Given the description of an element on the screen output the (x, y) to click on. 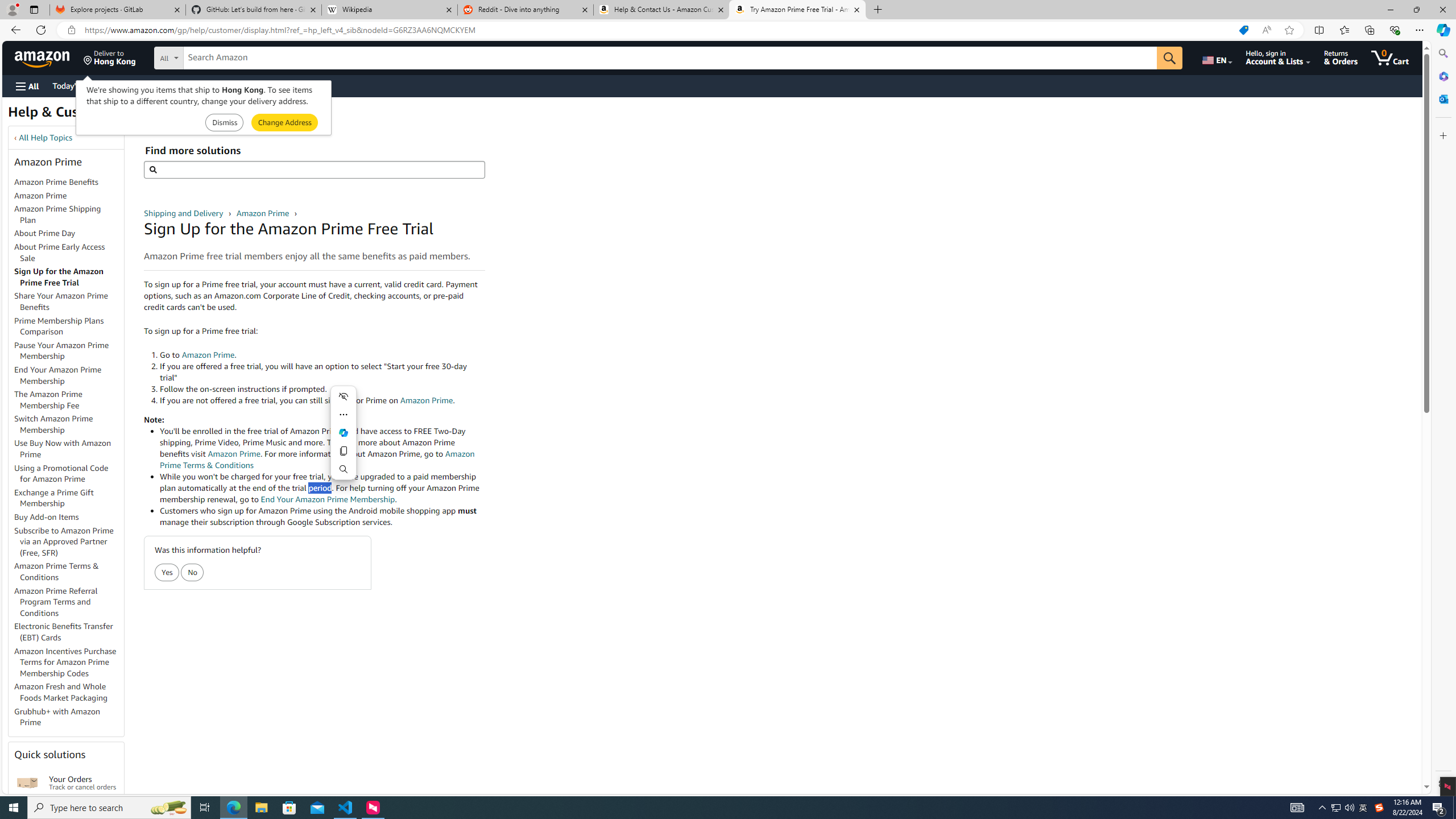
Amazon Prime Benefits (56, 181)
Amazon Fresh and Whole Foods Market Packaging (60, 691)
Today's Deals (76, 85)
Amazon Prime Benefits (68, 182)
Grubhub+ with Amazon Prime (68, 716)
Grubhub+ with Amazon Prime (57, 716)
Find more solutions (314, 169)
The Amazon Prime Membership Fee (48, 399)
Share Your Amazon Prime Benefits (61, 301)
Electronic Benefits Transfer (EBT) Cards (68, 631)
Pause Your Amazon Prime Membership (68, 350)
End Your Amazon Prime Membership (57, 374)
